Given the description of an element on the screen output the (x, y) to click on. 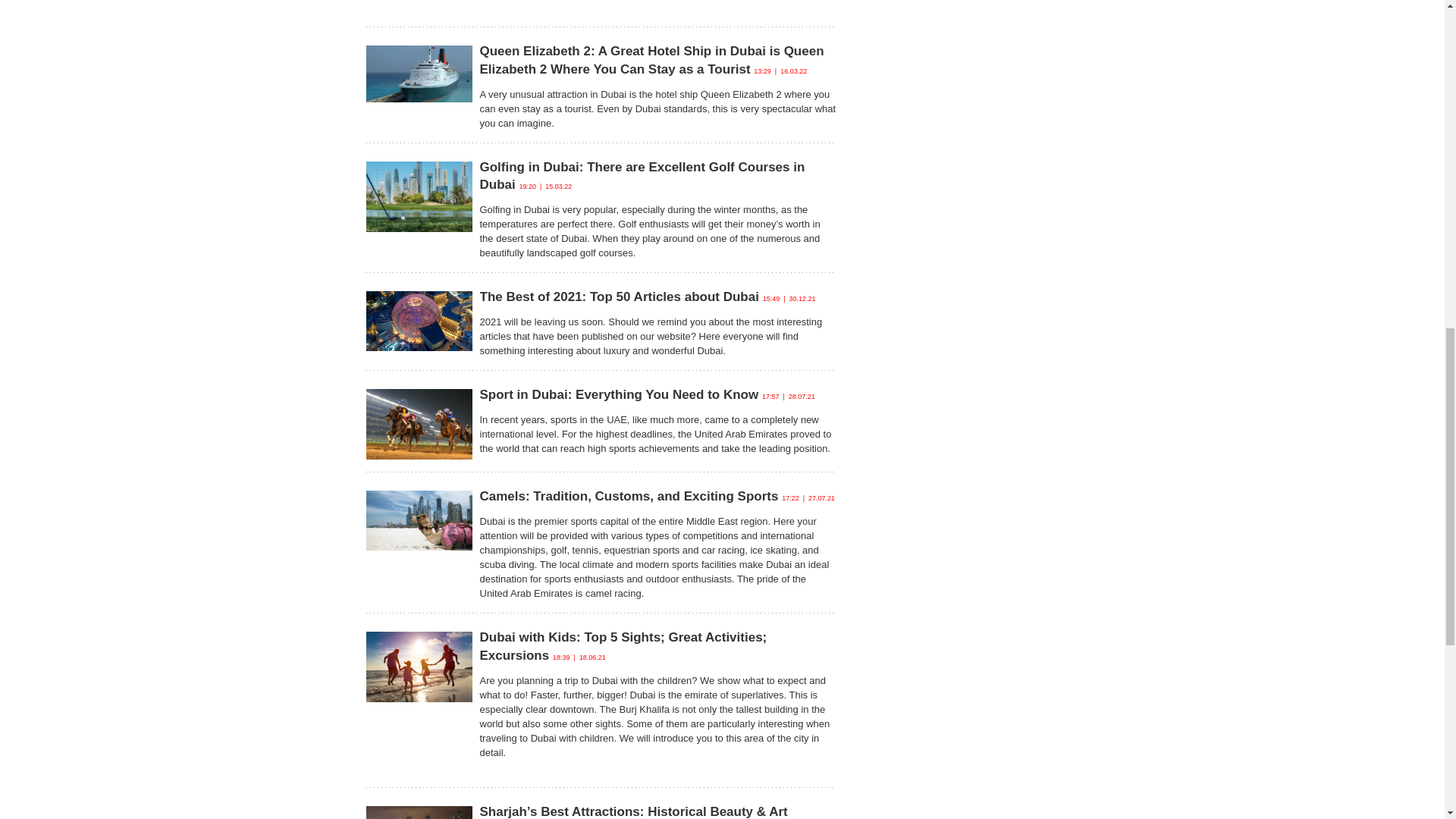
The Best of 2021: Top 50 Articles about Dubai (618, 296)
Sport in Dubai: Everything You Need to Know (618, 394)
Golfing in Dubai: There are Excellent Golf Courses in Dubai (642, 176)
Camels: Tradition, Customs, and Exciting Sports (628, 496)
Dubai with Kids: Top 5 Sights; Great Activities; Excursions (623, 646)
